Given the description of an element on the screen output the (x, y) to click on. 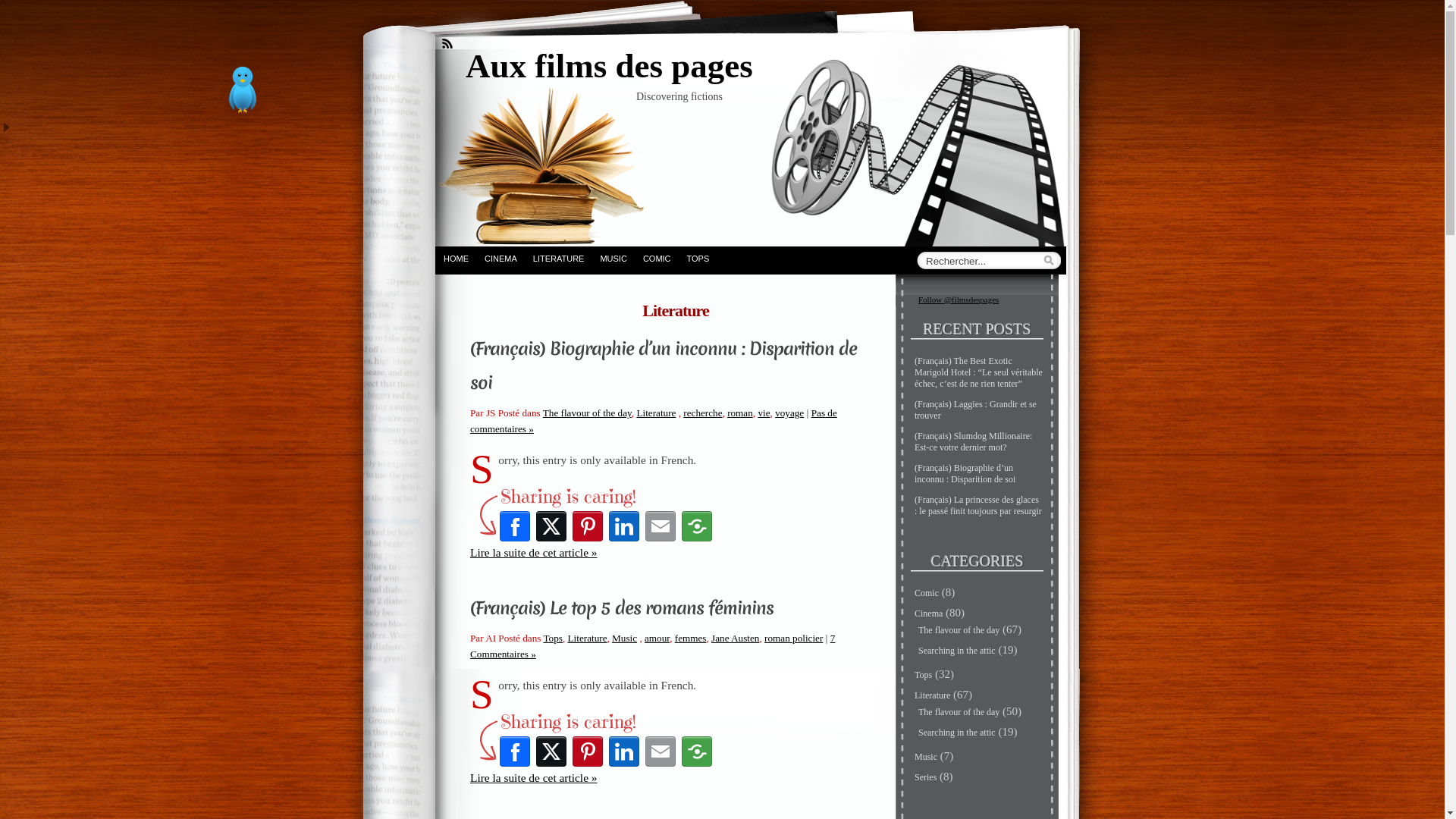
Follow @filmsdespages Element type: text (958, 299)
Literature Element type: text (655, 412)
Searching in the attic Element type: text (956, 650)
X (Twitter) Element type: hover (551, 526)
Music Element type: text (624, 637)
LinkedIn Element type: hover (623, 526)
MUSIC Element type: text (612, 257)
Literature Element type: text (587, 637)
Series Element type: text (925, 776)
The flavour of the day Element type: text (586, 412)
roman policier Element type: text (793, 637)
Facebook Element type: hover (514, 751)
More Options Element type: hover (696, 751)
Jane Austen Element type: text (735, 637)
femmes Element type: text (690, 637)
Email This Element type: hover (660, 751)
X (Twitter) Element type: hover (551, 751)
Music Element type: text (925, 756)
The flavour of the day Element type: text (958, 711)
Email This Element type: hover (660, 526)
HOME Element type: text (455, 257)
COMIC Element type: text (656, 257)
roman Element type: text (740, 412)
Facebook Element type: hover (514, 526)
LinkedIn Element type: hover (623, 751)
Tops Element type: text (551, 637)
More Options Element type: hover (696, 526)
recherche Element type: text (702, 412)
vie Element type: text (763, 412)
amour Element type: text (656, 637)
voyage Element type: text (789, 412)
Pinterest Element type: hover (587, 526)
Searching in the attic Element type: text (956, 732)
Cinema Element type: text (928, 613)
CINEMA Element type: text (500, 257)
LITERATURE Element type: text (558, 257)
Literature Element type: text (932, 695)
The flavour of the day Element type: text (958, 629)
Tops Element type: text (922, 674)
Comic Element type: text (926, 592)
Pinterest Element type: hover (587, 751)
TOPS Element type: text (697, 257)
